Given the description of an element on the screen output the (x, y) to click on. 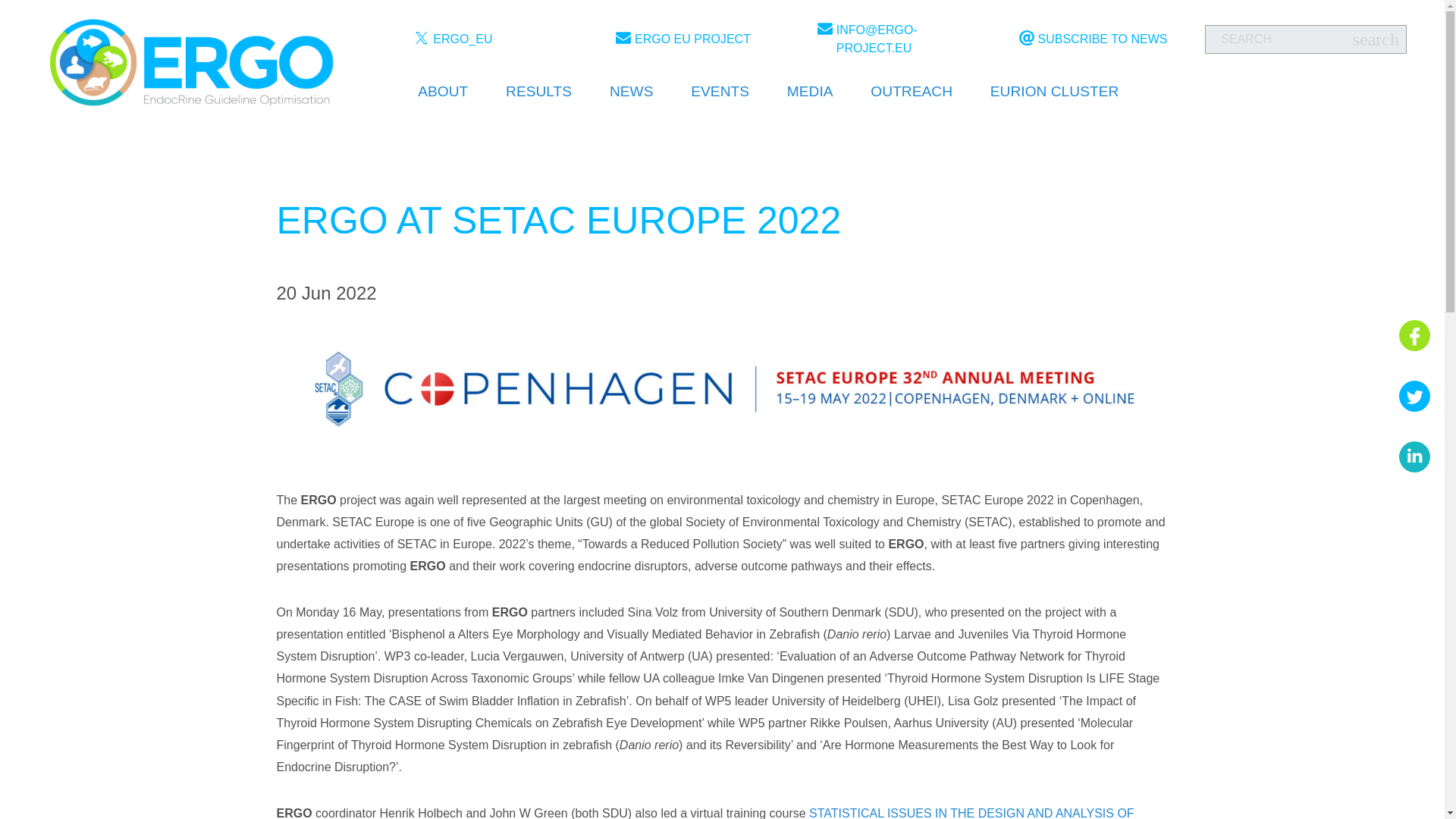
Events (719, 92)
Media (809, 92)
About (443, 92)
EURION Cluster (1054, 92)
ABOUT (443, 92)
SUBSCRIBE TO NEWS (1104, 39)
ERGO EU PROJECT (700, 39)
News (630, 92)
Outreach (911, 92)
Results (538, 92)
MEDIA (809, 92)
EURION CLUSTER (1054, 92)
EVENTS (719, 92)
NEWS (630, 92)
